Given the description of an element on the screen output the (x, y) to click on. 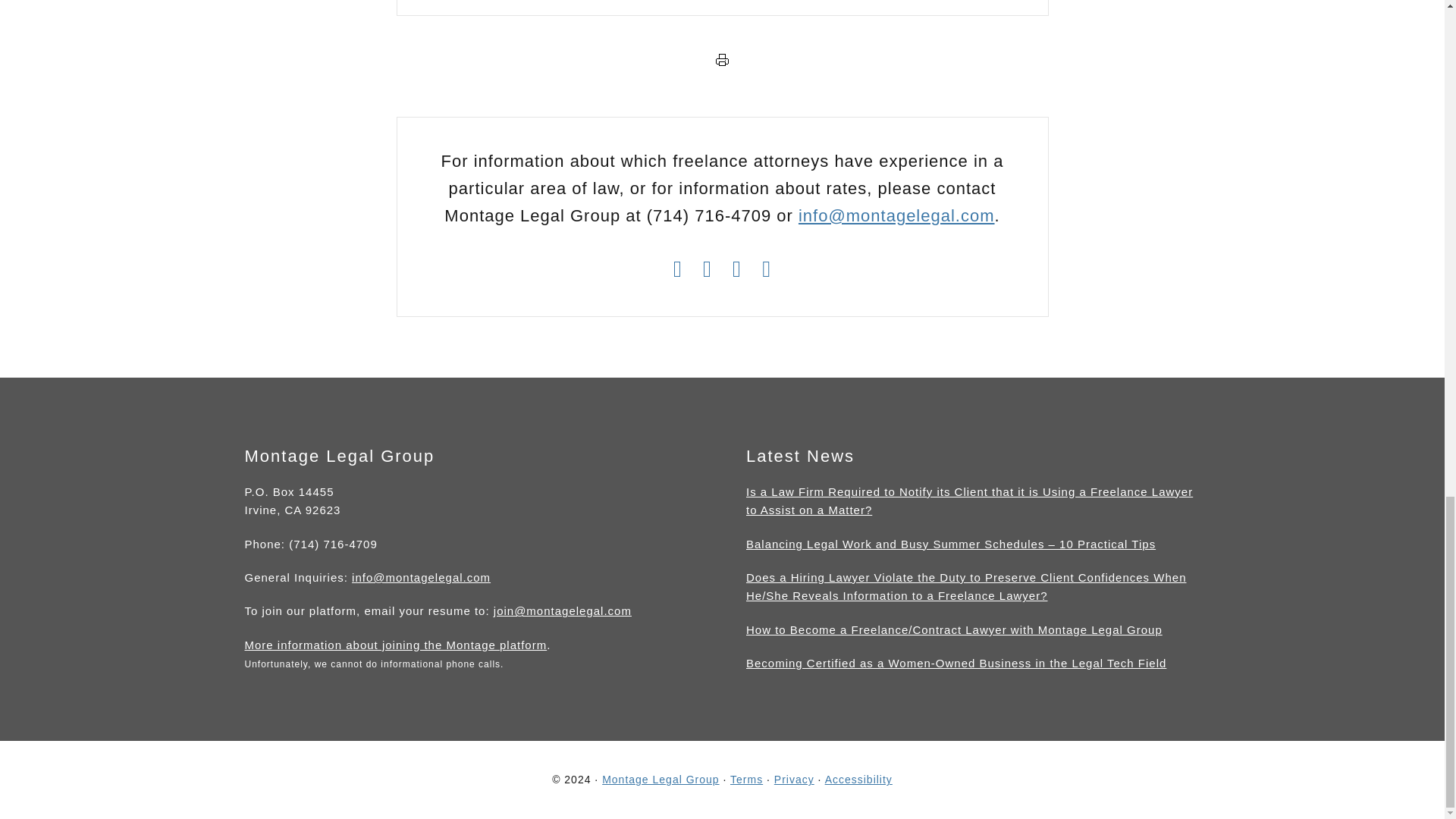
Montage Legal Group (660, 779)
More information about joining the Montage platform (395, 646)
LinkedIn (766, 270)
Facebook (737, 270)
Twitter (707, 270)
Facebook (737, 267)
Instagram (677, 267)
Instagram (677, 270)
Twitter (707, 267)
